Given the description of an element on the screen output the (x, y) to click on. 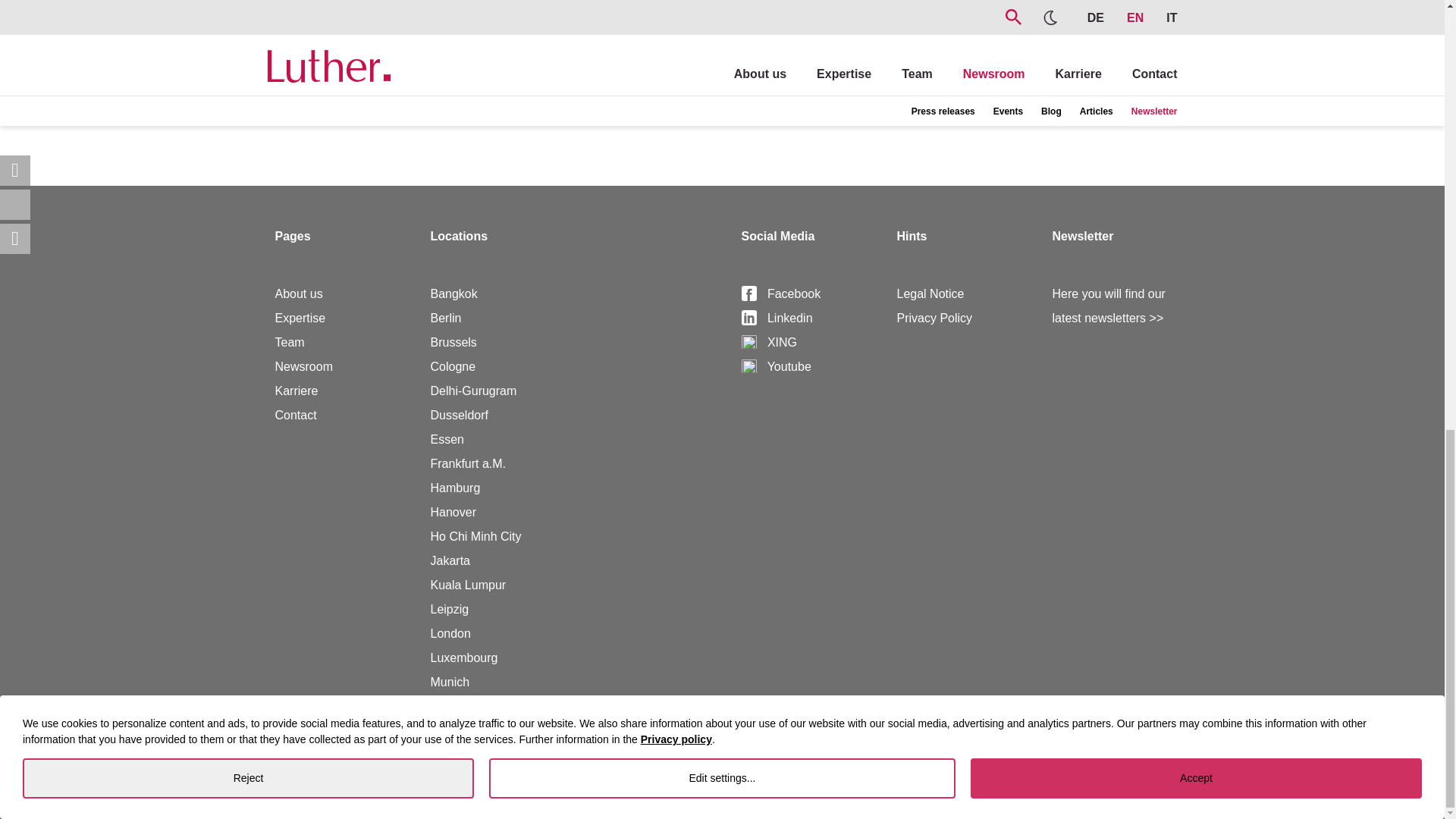
Delhi-Gurugram (473, 390)
Essen (447, 439)
Hamburg (455, 487)
Newsroom (303, 366)
Team (289, 341)
Newsroom (303, 366)
Ho Chi Minh City (475, 535)
Karriere (296, 390)
Contact (295, 414)
About us (298, 293)
Cologne (453, 366)
Contact (295, 414)
Berlin (445, 318)
About us (298, 293)
Expertise (299, 318)
